Given the description of an element on the screen output the (x, y) to click on. 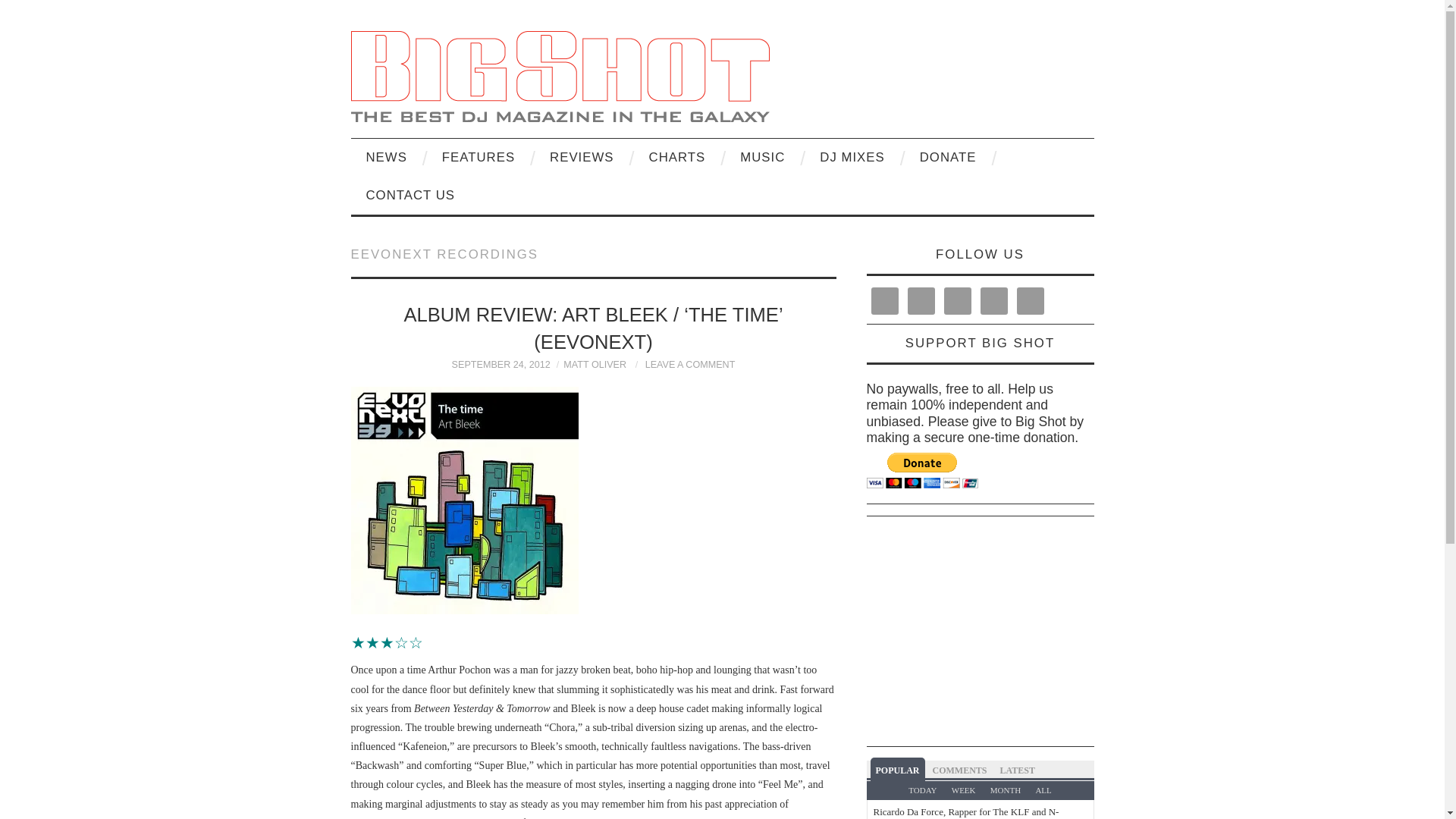
Ricardo Da Force, Rapper for The KLF and N-Trance, Is Dead (966, 812)
art bleek the time (464, 500)
Charts (676, 157)
COMMENTS (958, 769)
Advertisement (1155, 633)
SEPTEMBER 24, 2012 (500, 364)
DONATE (947, 157)
POPULAR (897, 769)
FEATURES (477, 157)
CHARTS (676, 157)
LEAVE A COMMENT (690, 364)
DJ MIXES (852, 157)
CONTACT US (410, 195)
NEWS (386, 157)
 Music (762, 157)
